Given the description of an element on the screen output the (x, y) to click on. 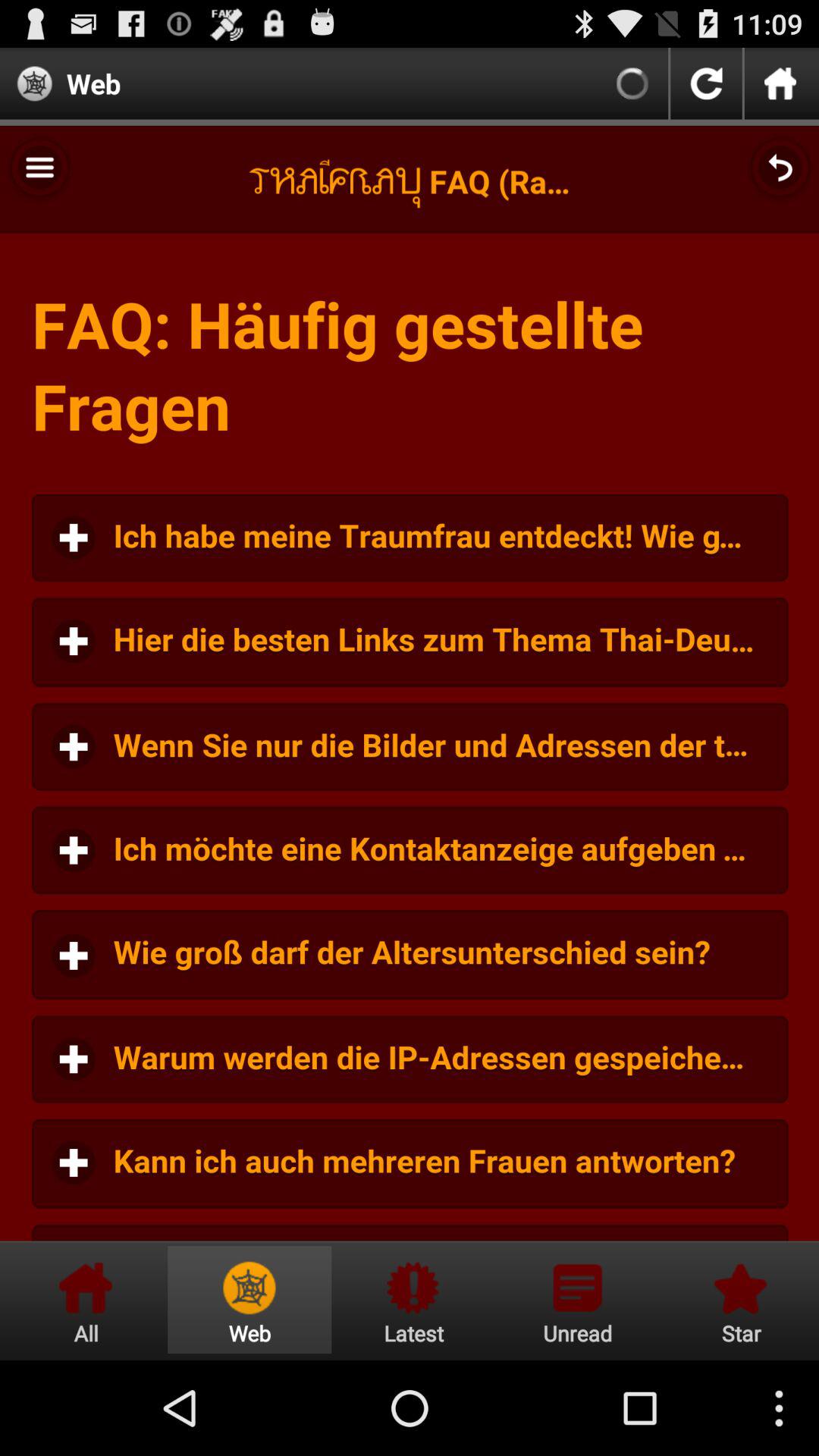
view latest information (413, 1299)
